Given the description of an element on the screen output the (x, y) to click on. 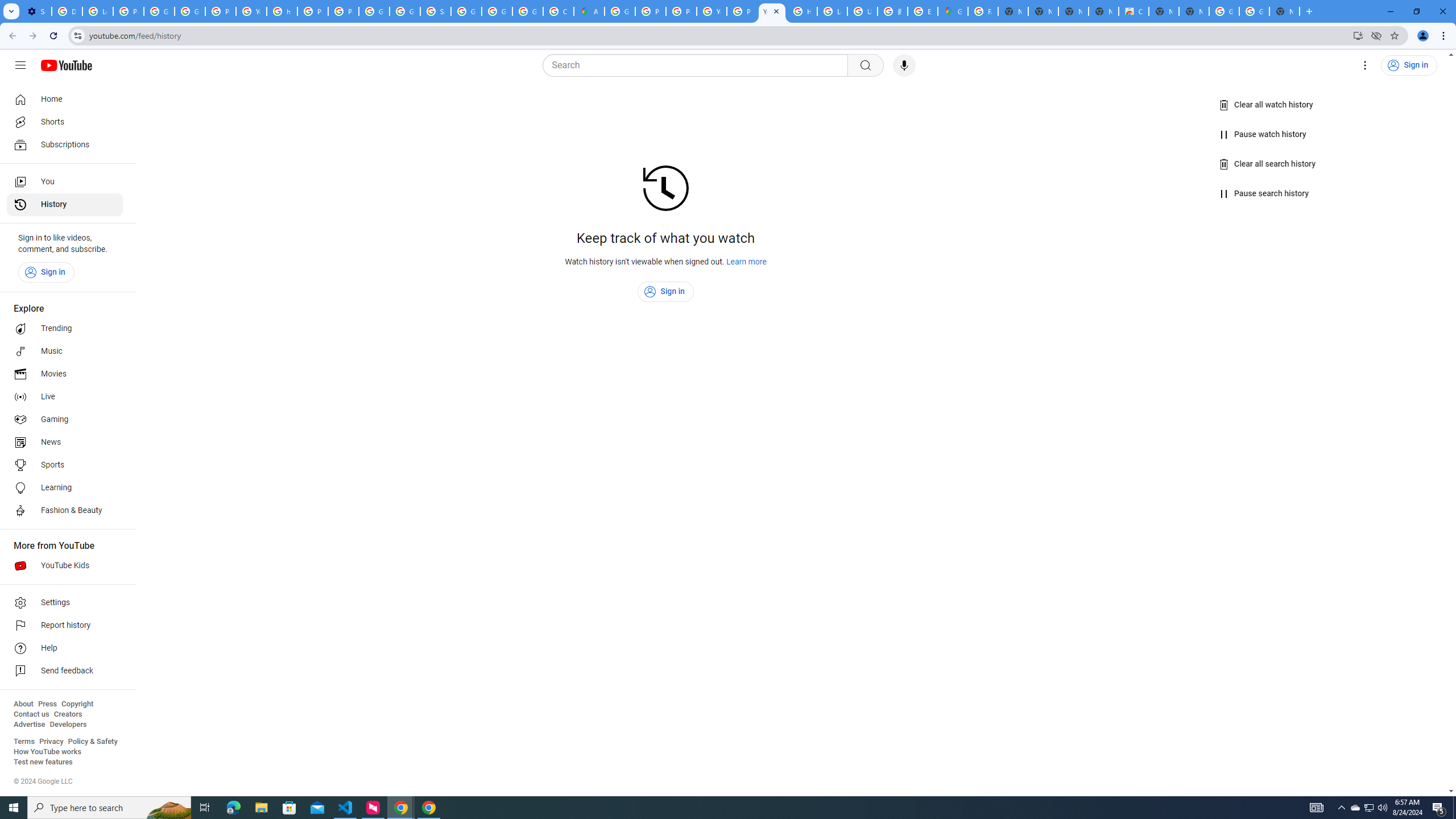
Google Images (1224, 11)
Learn more (746, 261)
View site information (77, 35)
YouTube (711, 11)
Developers (68, 724)
How YouTube works (47, 751)
Create your Google Account (558, 11)
Learning (64, 487)
Sign in - Google Accounts (434, 11)
Subscriptions (64, 144)
https://scholar.google.com/ (282, 11)
